Given the description of an element on the screen output the (x, y) to click on. 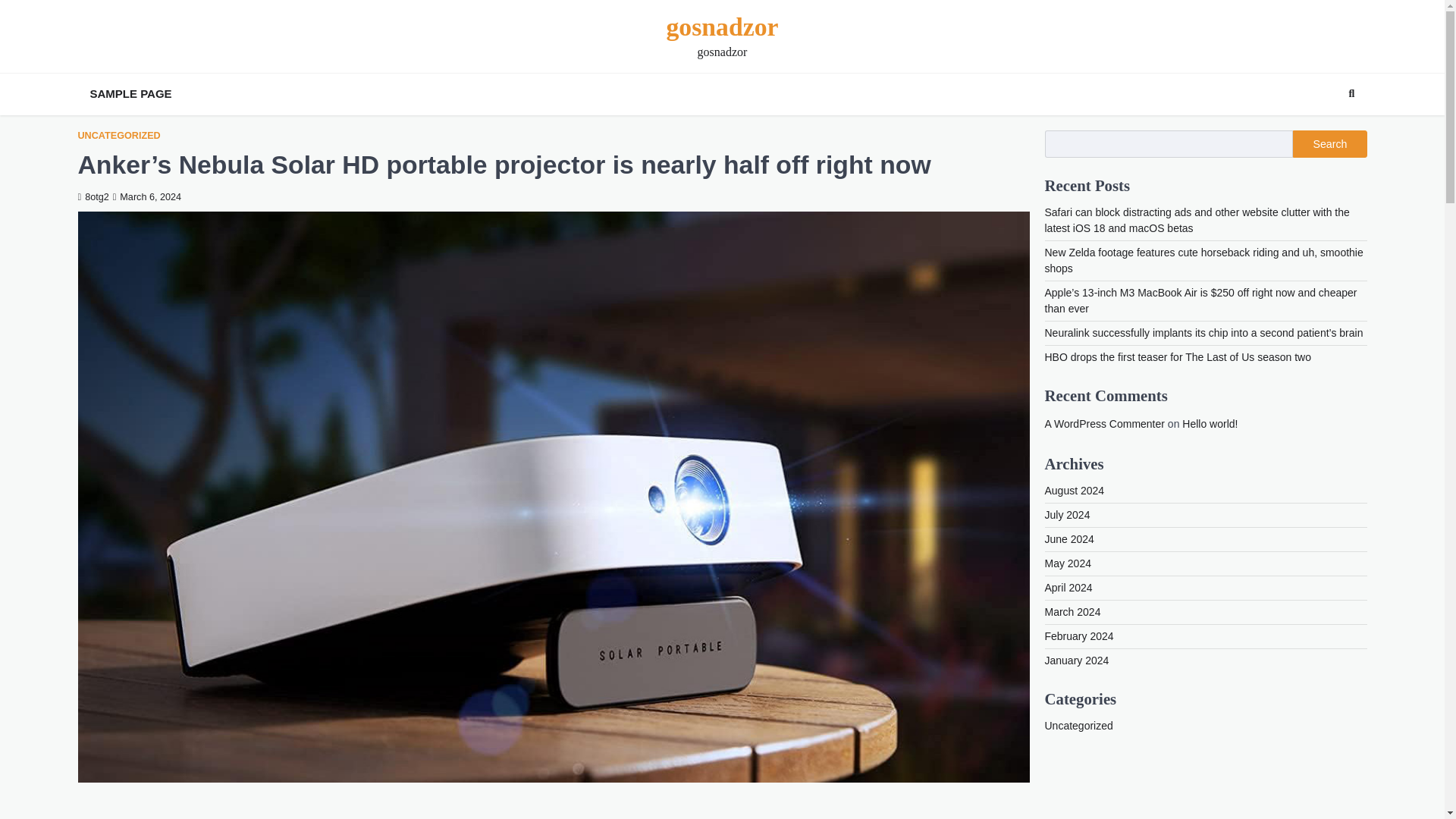
8otg2 (92, 196)
Hello world! (1209, 423)
SAMPLE PAGE (129, 94)
A WordPress Commenter (1104, 423)
Search (1351, 93)
March 6, 2024 (146, 196)
June 2024 (1069, 539)
February 2024 (1079, 635)
April 2024 (1069, 587)
August 2024 (1075, 490)
January 2024 (1077, 660)
Search (1323, 129)
UNCATEGORIZED (118, 135)
Uncategorized (1079, 725)
